Given the description of an element on the screen output the (x, y) to click on. 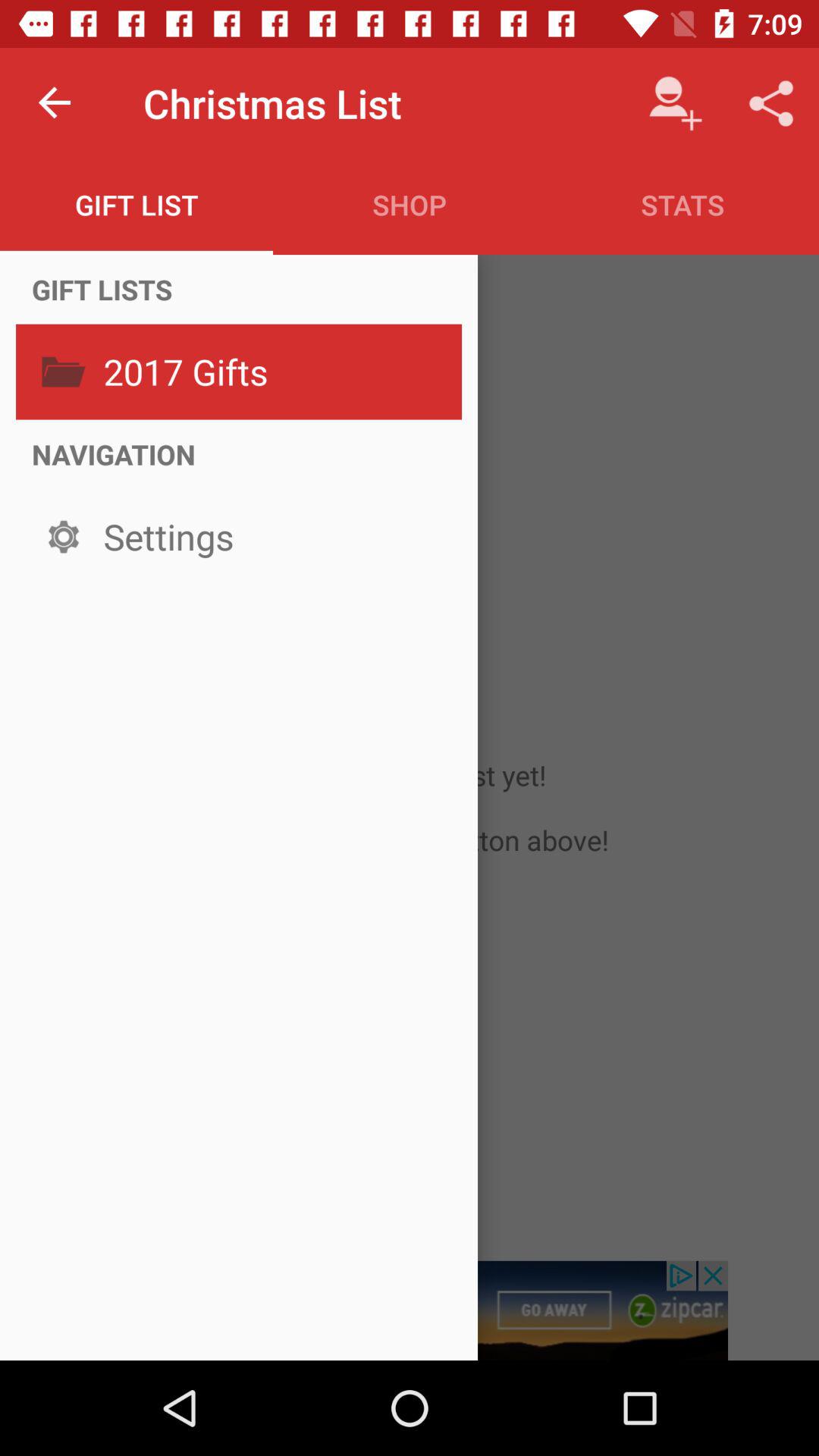
click icon below the 2017 gifts item (113, 454)
